Given the description of an element on the screen output the (x, y) to click on. 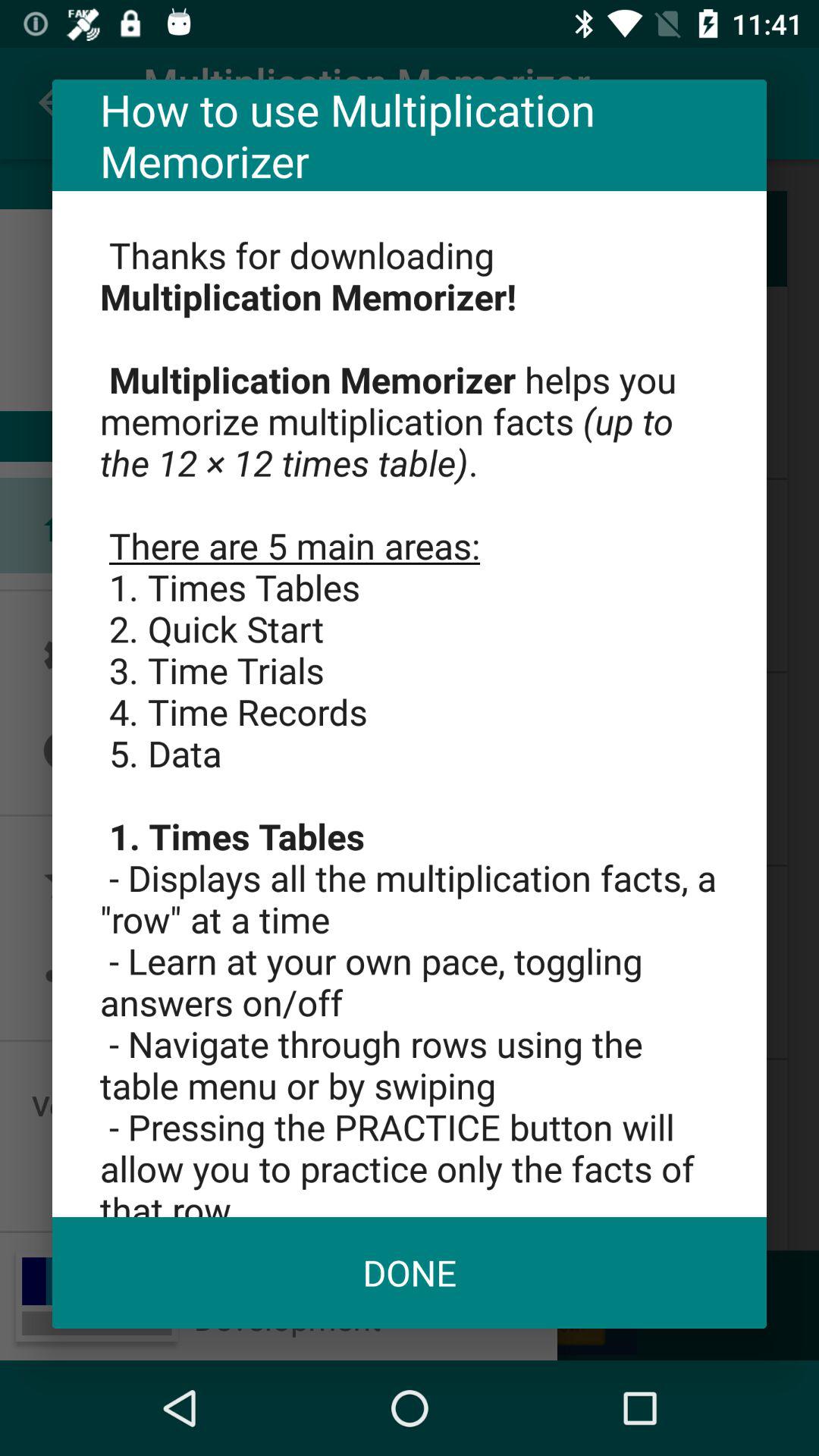
tap icon at the bottom (409, 1272)
